Given the description of an element on the screen output the (x, y) to click on. 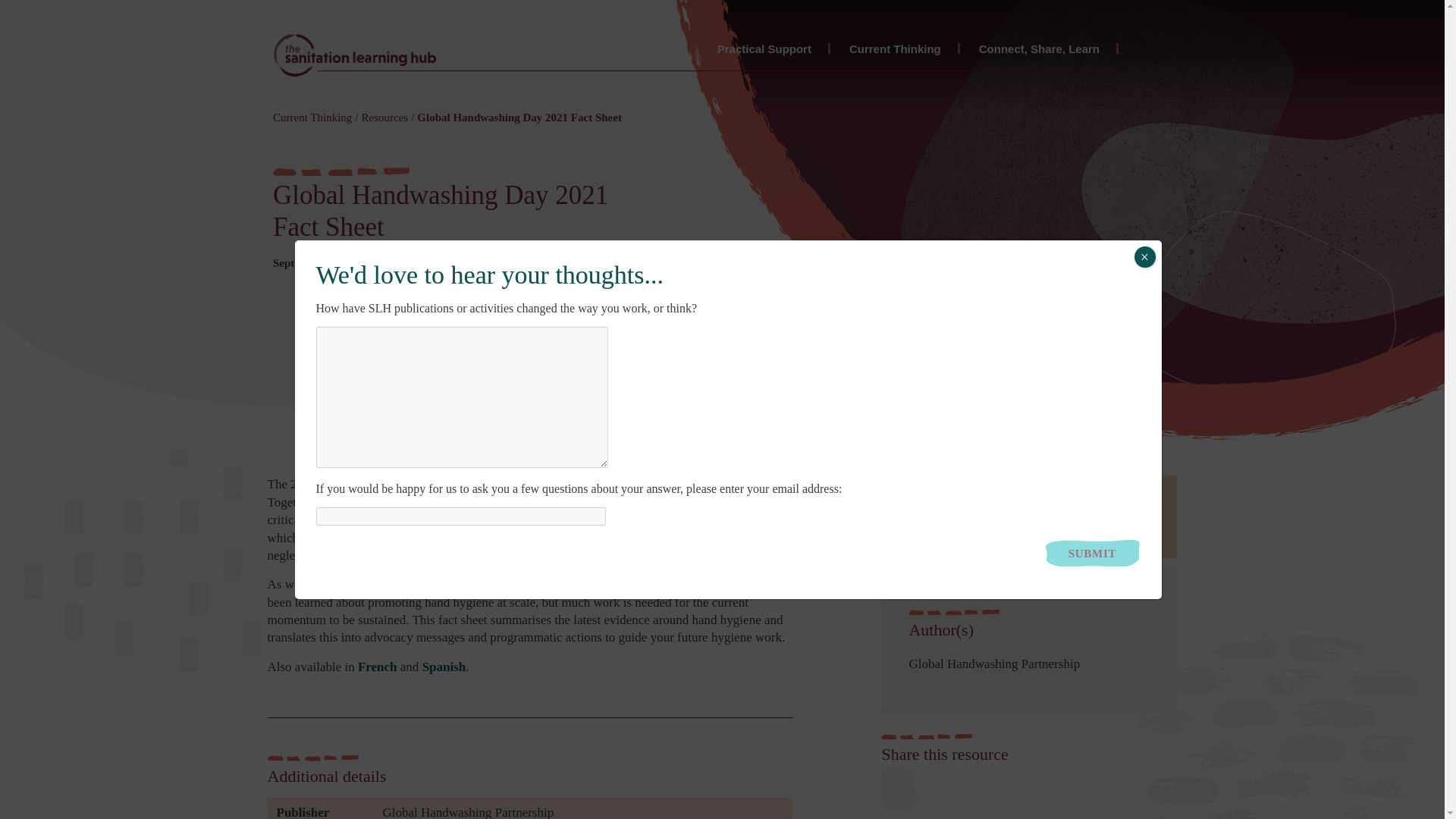
Search (1007, 406)
Current Thinking (894, 49)
Connect, Share, Learn (1038, 49)
Practical Support (763, 49)
